Given the description of an element on the screen output the (x, y) to click on. 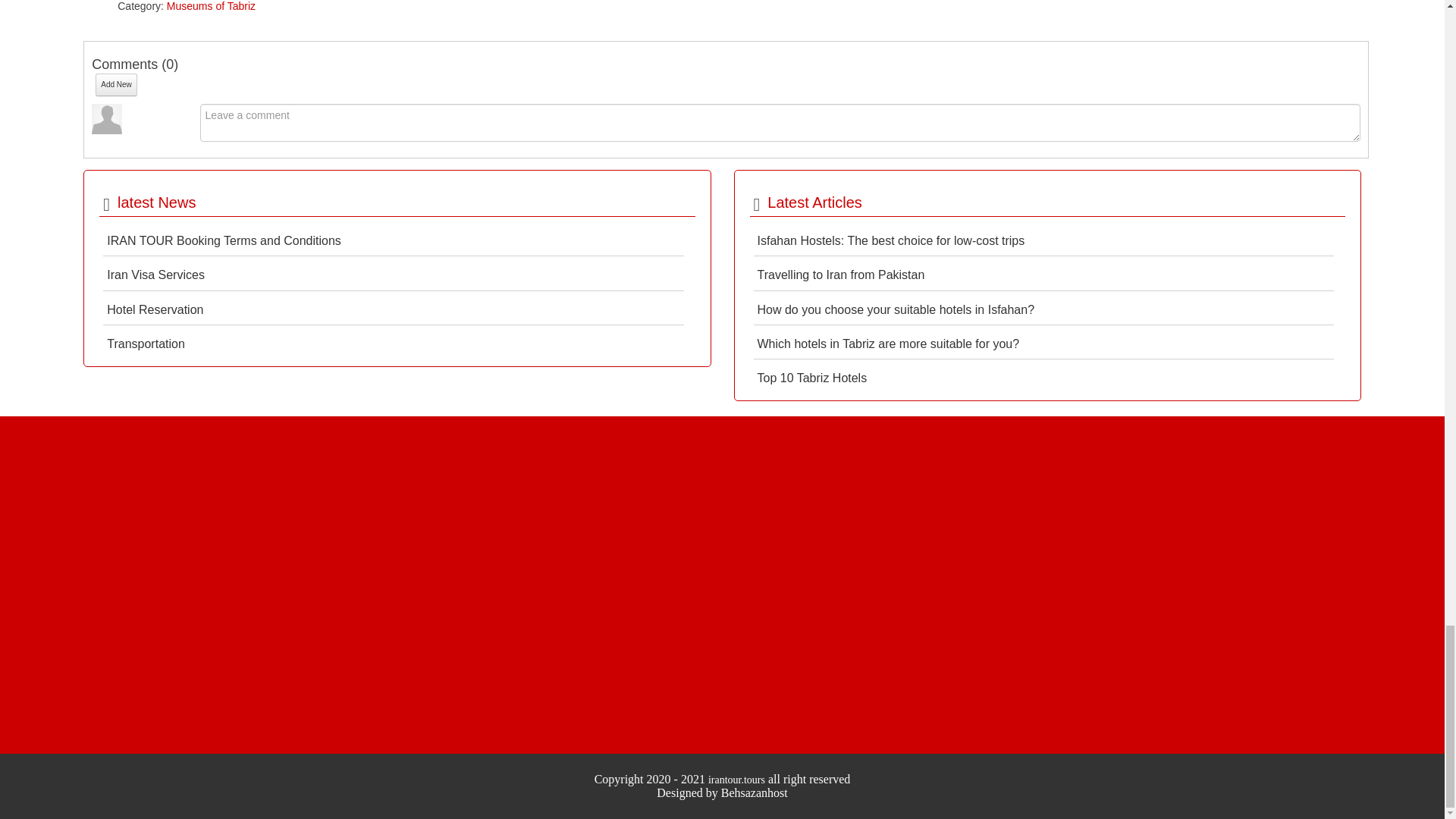
Add New (116, 84)
